Given the description of an element on the screen output the (x, y) to click on. 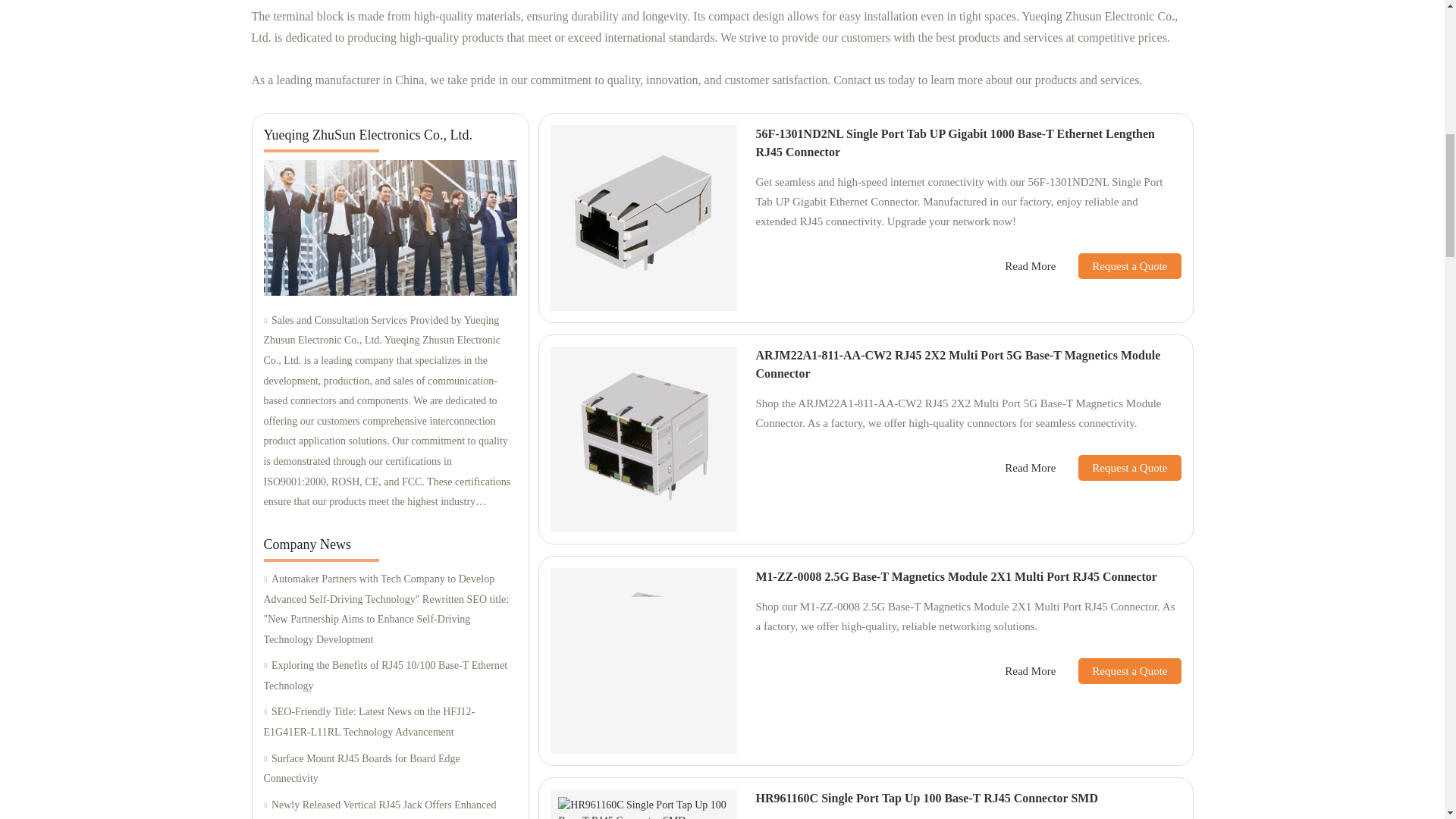
Request a Quote (1117, 266)
Surface Mount RJ45 Boards for Board Edge Connectivity (389, 769)
Read More (1029, 266)
